Given the description of an element on the screen output the (x, y) to click on. 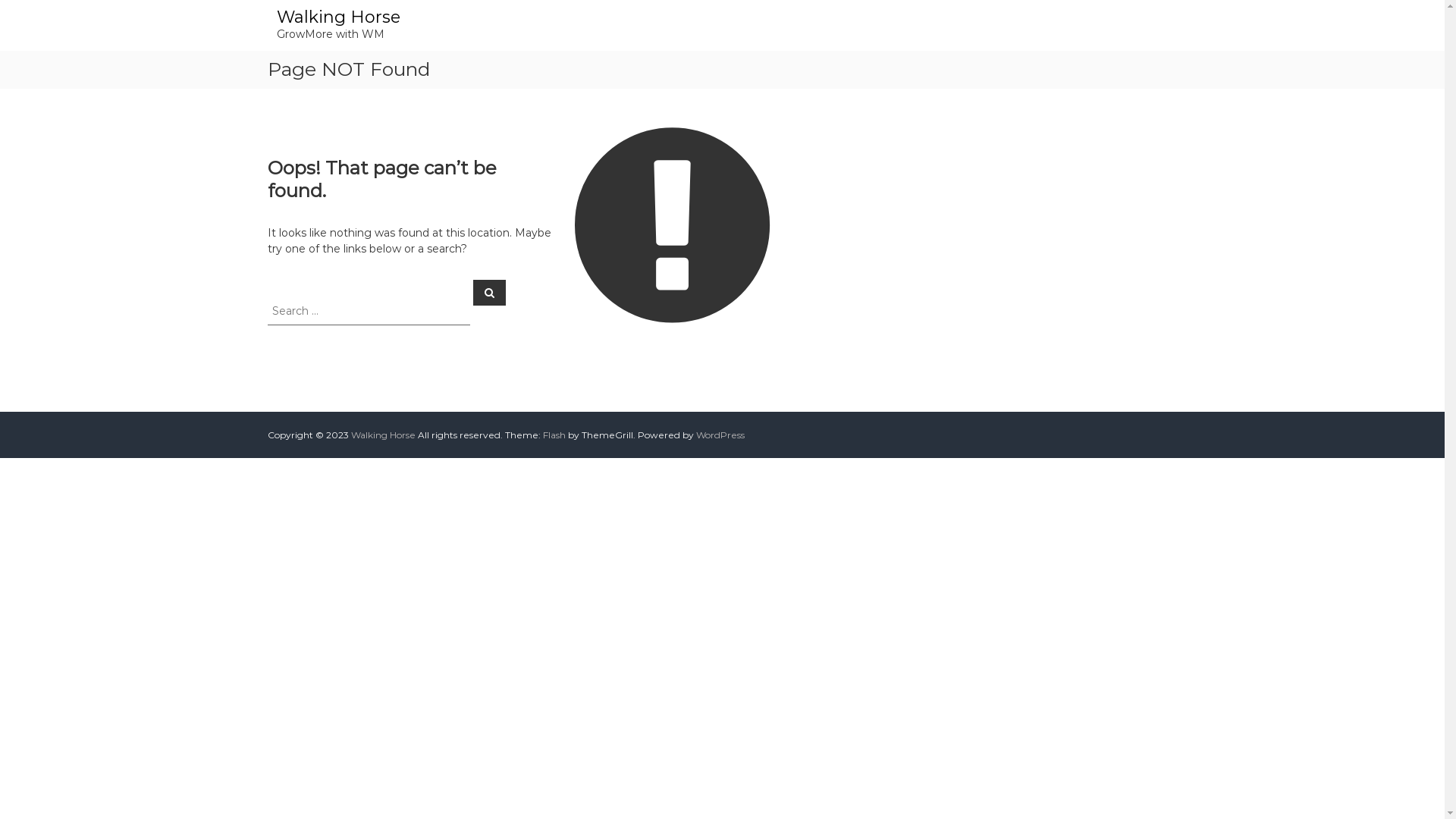
WordPress Element type: text (720, 434)
Search Element type: text (489, 291)
Walking Horse Element type: text (382, 434)
Walking Horse Element type: text (337, 16)
Flash Element type: text (553, 434)
